Given the description of an element on the screen output the (x, y) to click on. 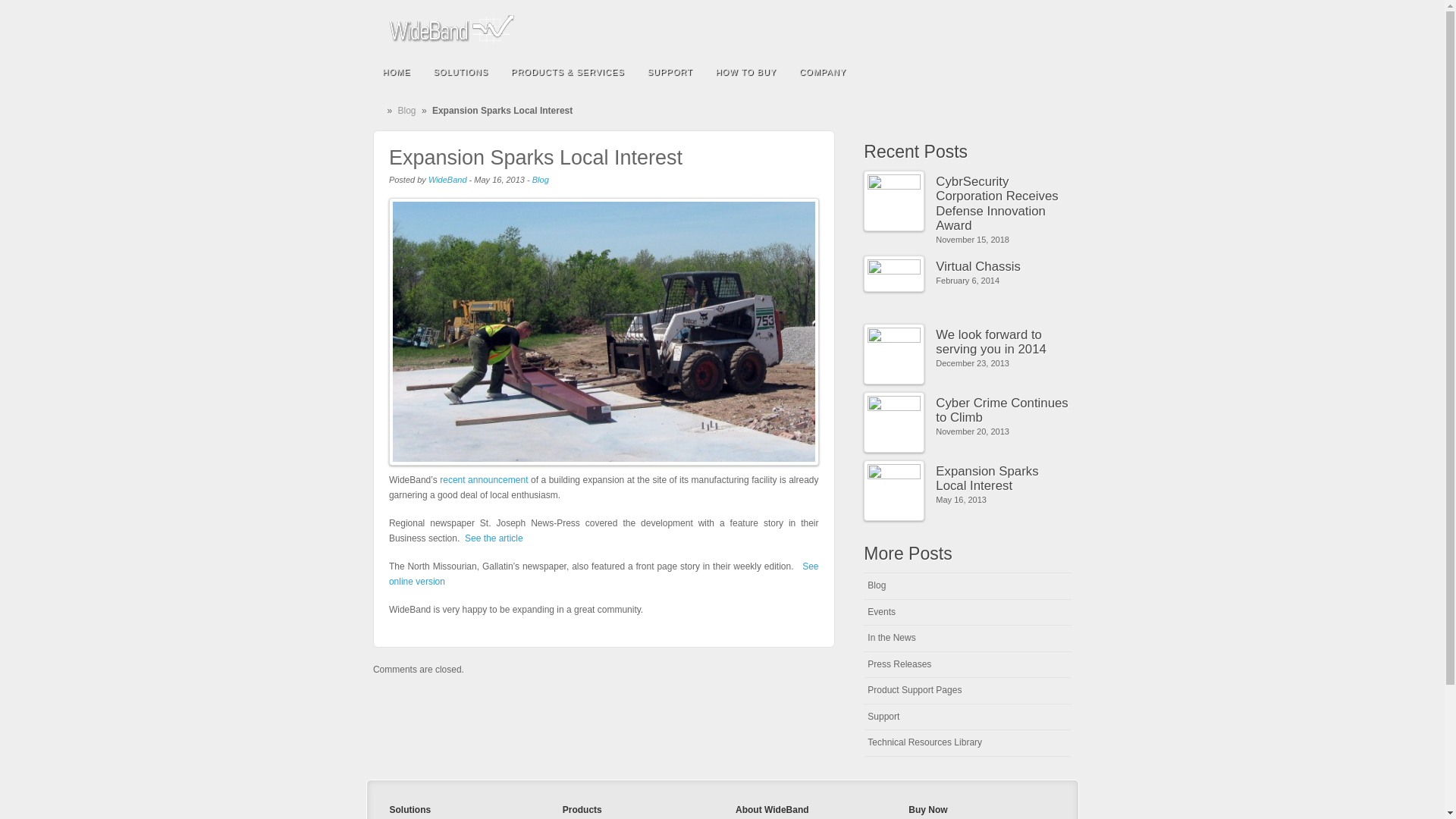
Linkedin (1000, 29)
CybrSecurity Corporation Receives Defense Innovation Award (1003, 203)
HOME (396, 71)
We look forward to serving you in 2014 (1003, 342)
Rss (1041, 29)
SUPPORT (670, 71)
WideBand (450, 29)
Facebook (979, 29)
COMPANY (822, 71)
Facebook (979, 29)
